Given the description of an element on the screen output the (x, y) to click on. 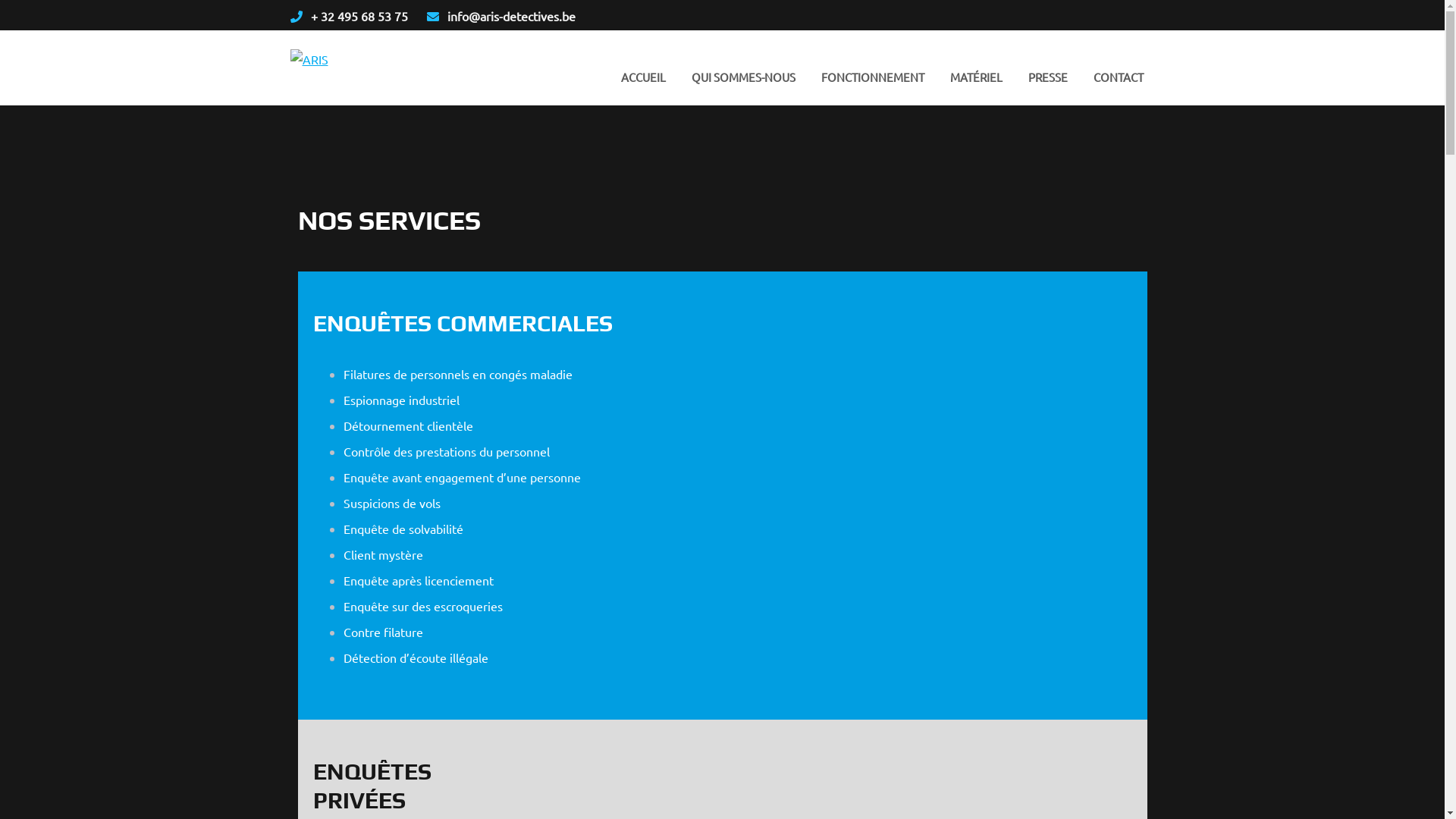
+ 32 495 68 53 75 Element type: text (358, 15)
FONCTIONNEMENT Element type: text (872, 77)
ACCUEIL Element type: text (643, 77)
QUI SOMMES-NOUS Element type: text (742, 77)
PRESSE Element type: text (1047, 77)
CONTACT Element type: text (1117, 77)
